Given the description of an element on the screen output the (x, y) to click on. 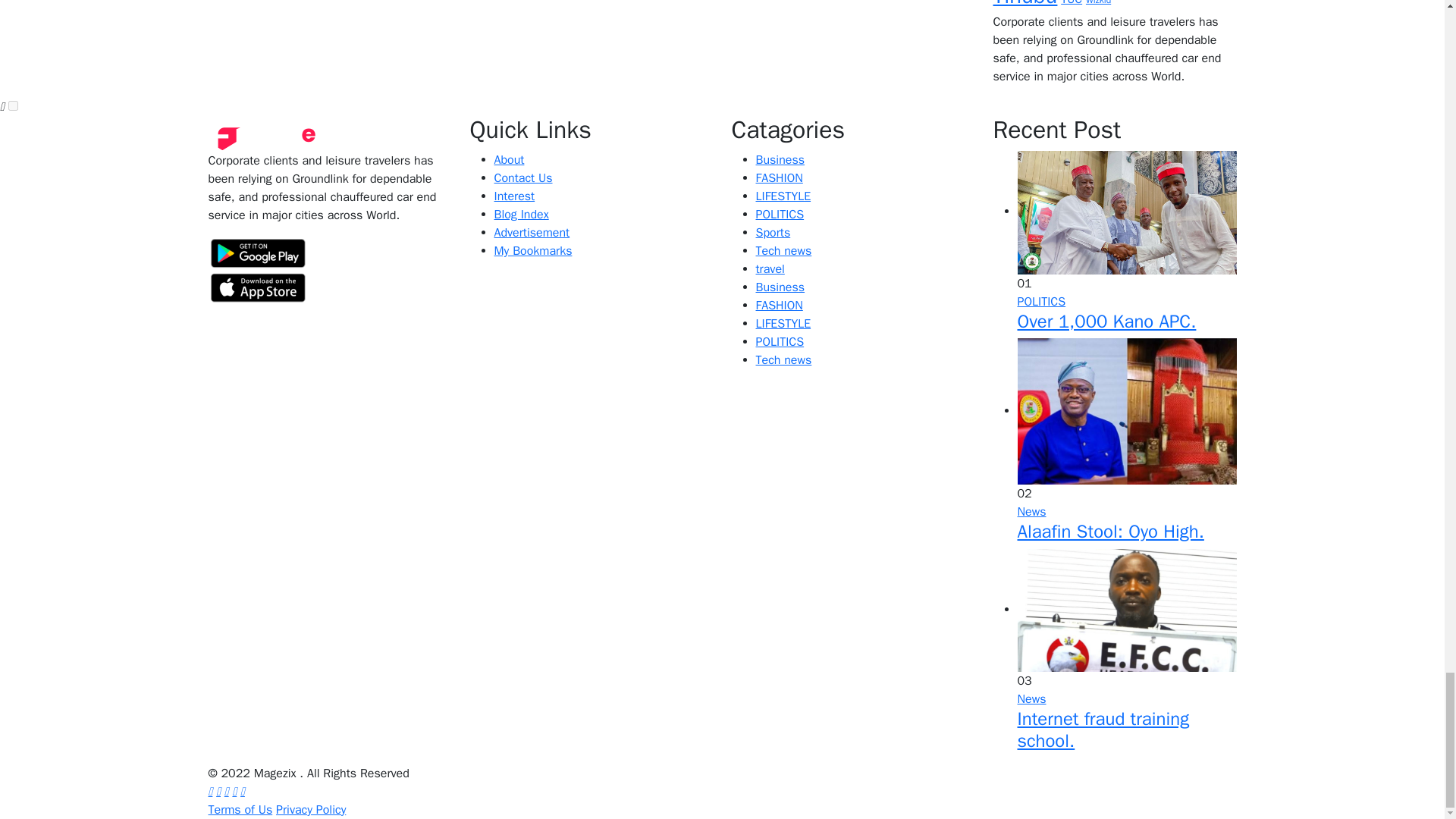
on (12, 105)
